Given the description of an element on the screen output the (x, y) to click on. 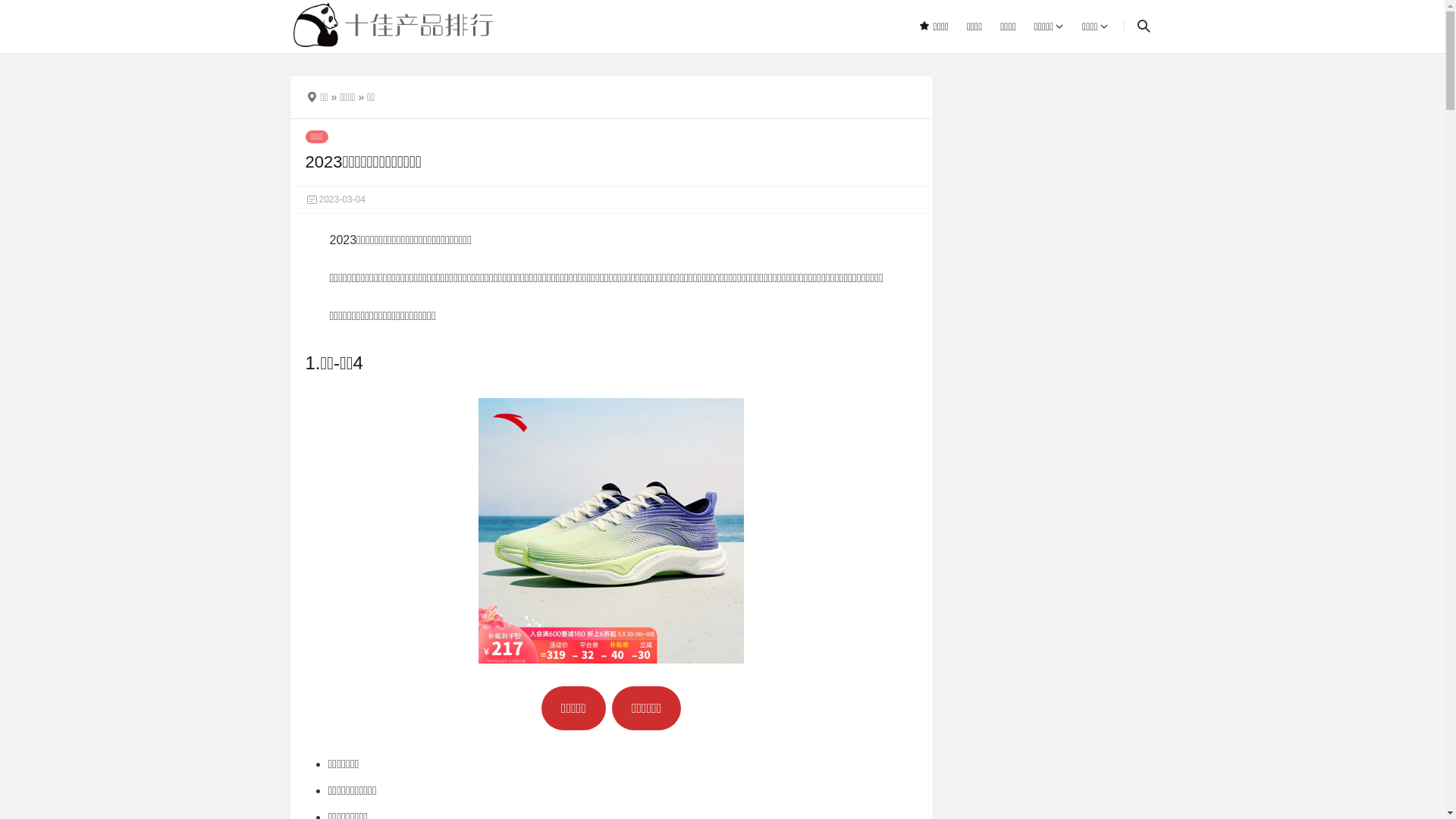
2023-03-04 Element type: text (334, 199)
